Given the description of an element on the screen output the (x, y) to click on. 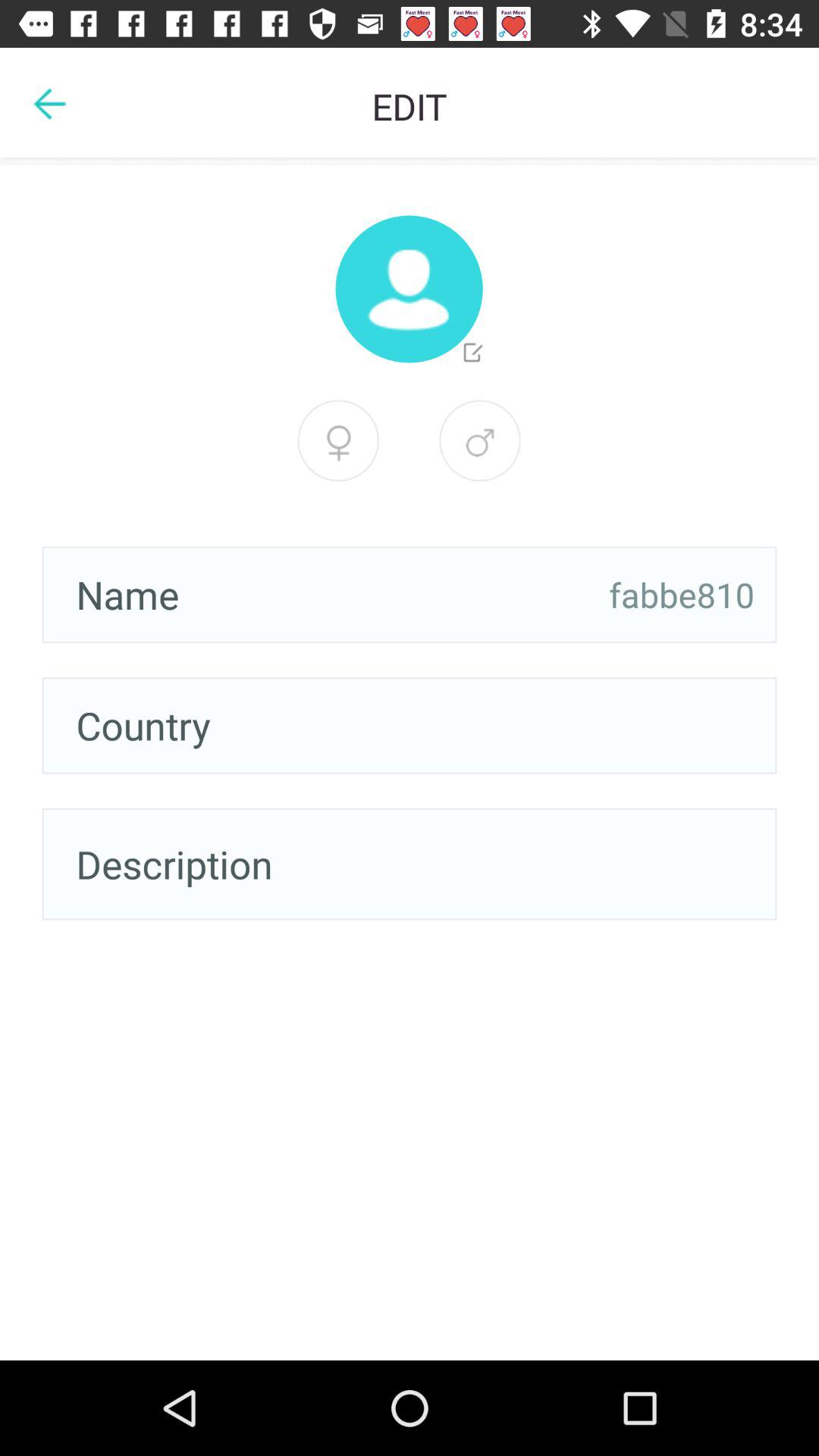
select item next to the name item (681, 594)
